Given the description of an element on the screen output the (x, y) to click on. 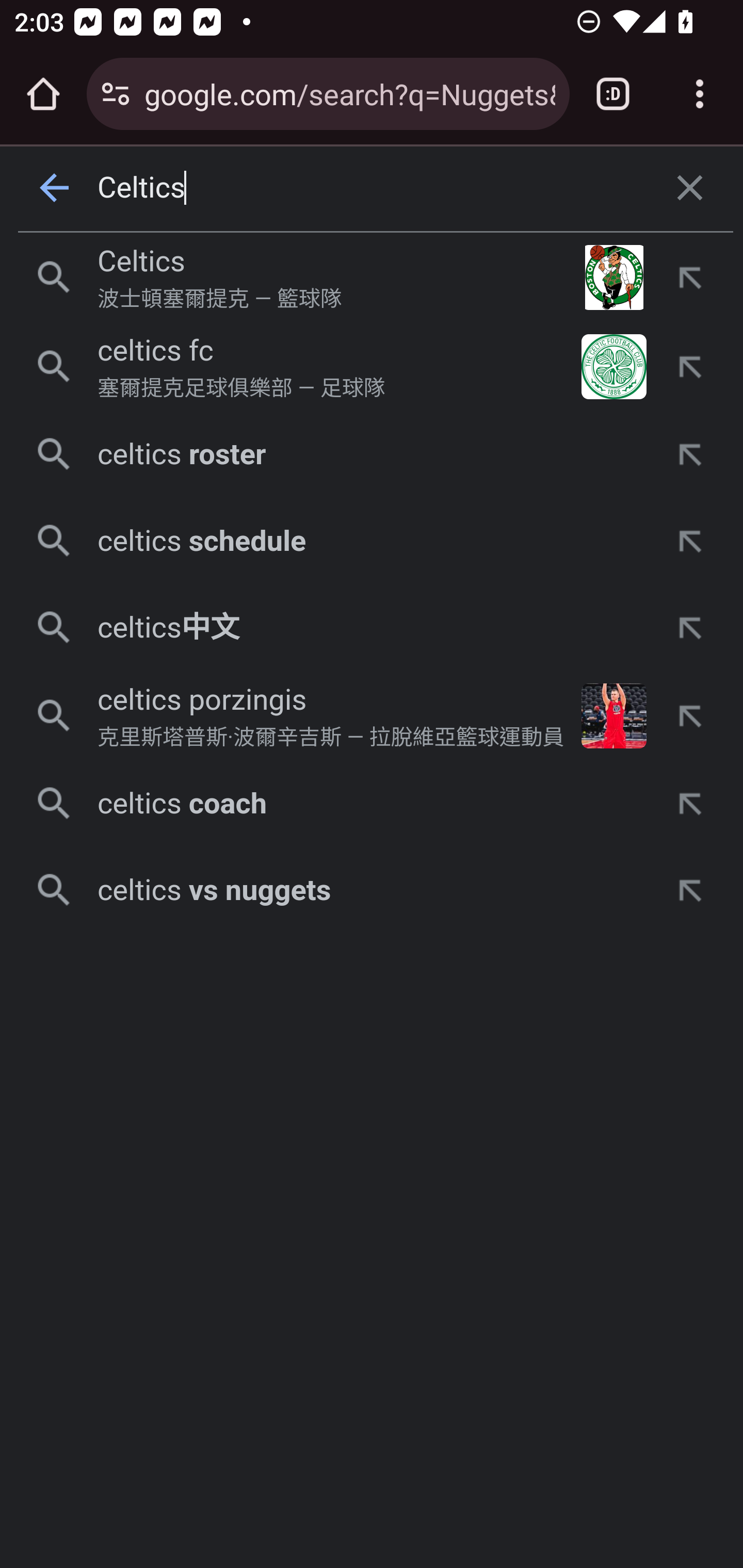
Open the home page (43, 93)
Connection is secure (115, 93)
Switch or close tabs (612, 93)
Customize and control Google Chrome (699, 93)
上一頁 (54, 188)
清除搜尋內容 (690, 188)
Celtics (372, 188)
